Given the description of an element on the screen output the (x, y) to click on. 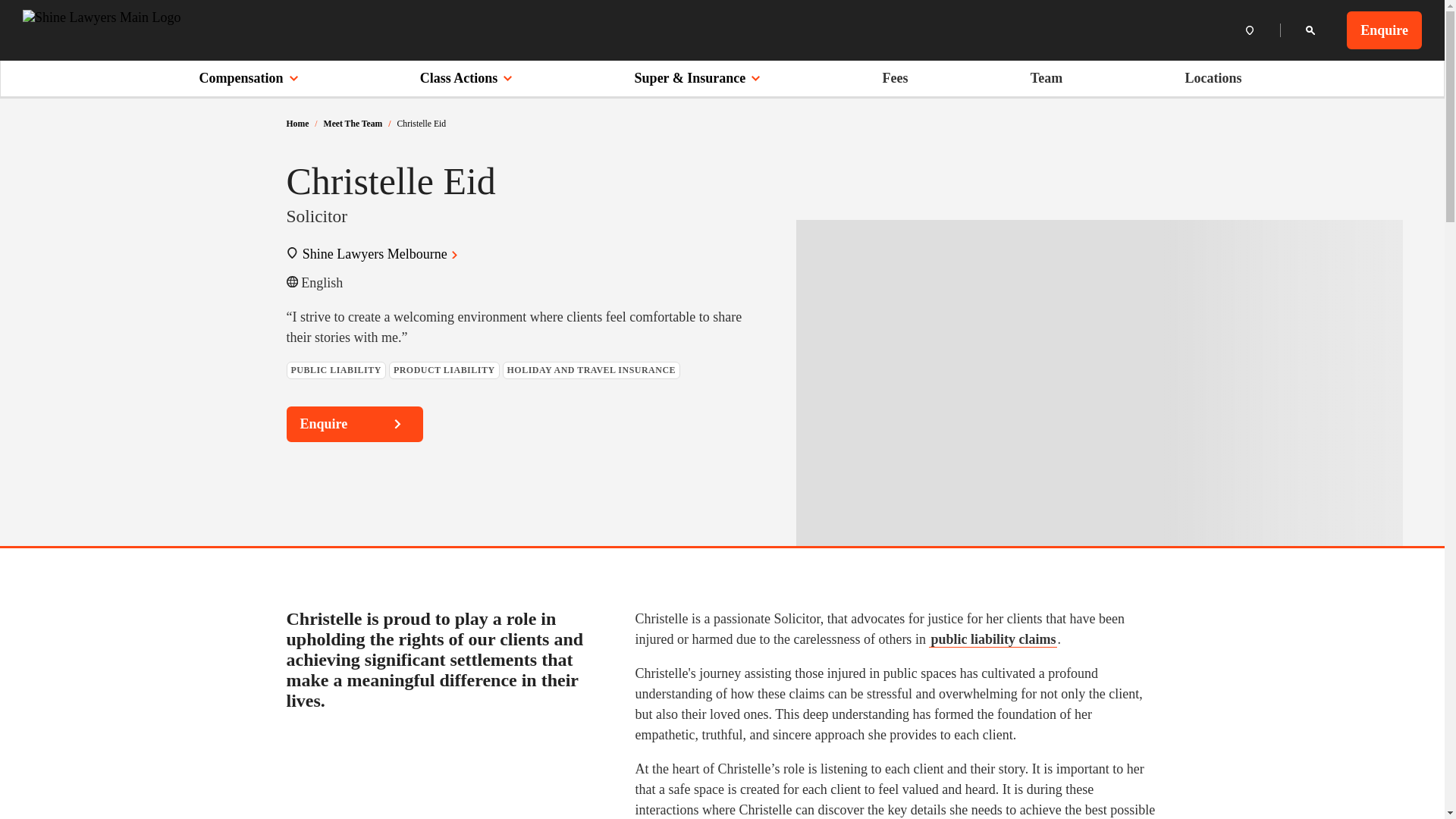
Enquire (1384, 30)
Fees (895, 77)
Enquire (354, 424)
Team (1046, 77)
Shine Lawyers Melbourne (382, 253)
public liability claims (992, 639)
Home (297, 123)
Locations (1213, 77)
